Given the description of an element on the screen output the (x, y) to click on. 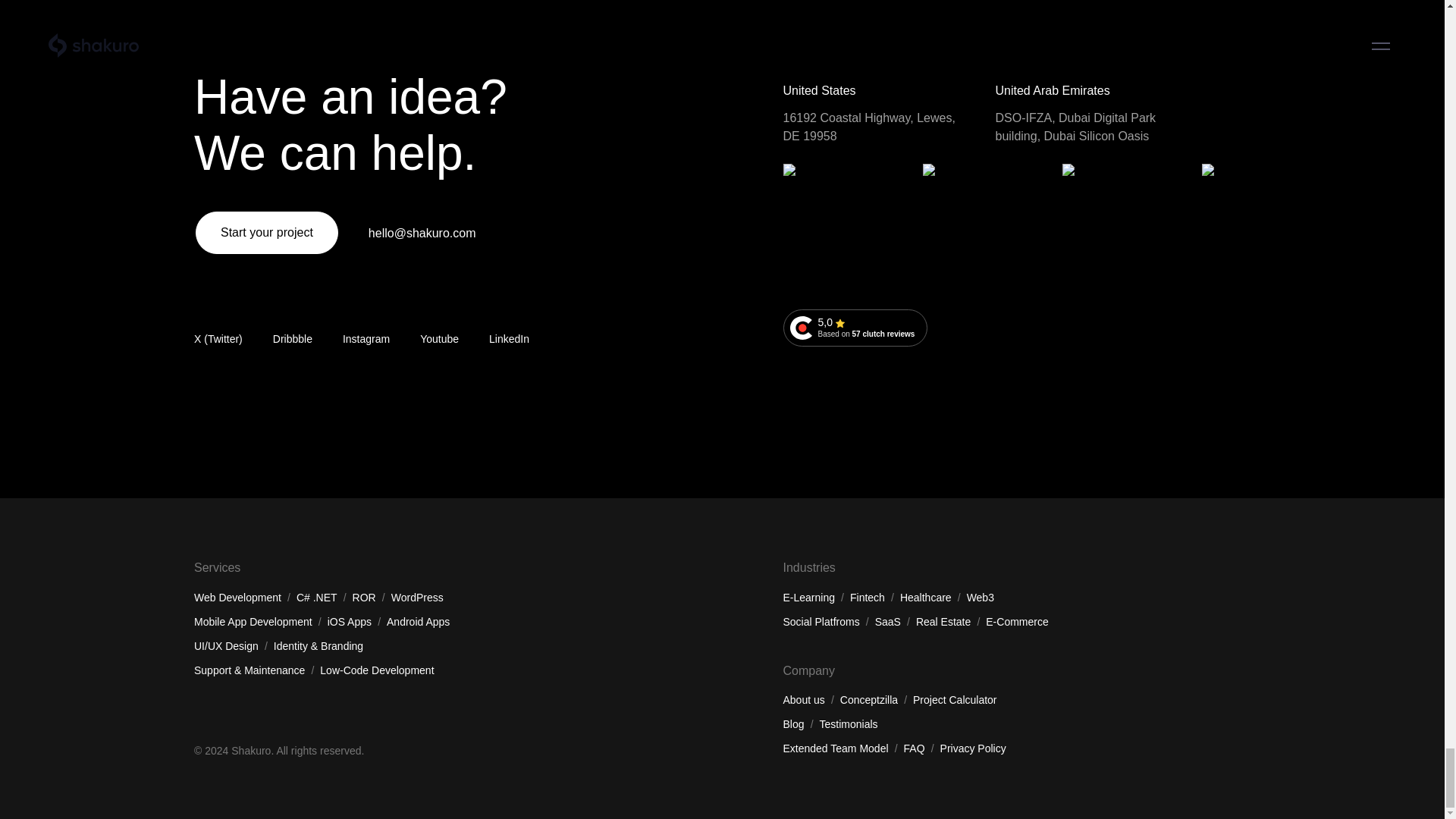
Instagram (366, 339)
Youtube (439, 339)
Start your project (266, 232)
Dribbble (293, 339)
Youtube (439, 339)
Dribbble (293, 339)
LinkedIn (509, 339)
LinkedIn (855, 327)
Instagram (509, 339)
